Given the description of an element on the screen output the (x, y) to click on. 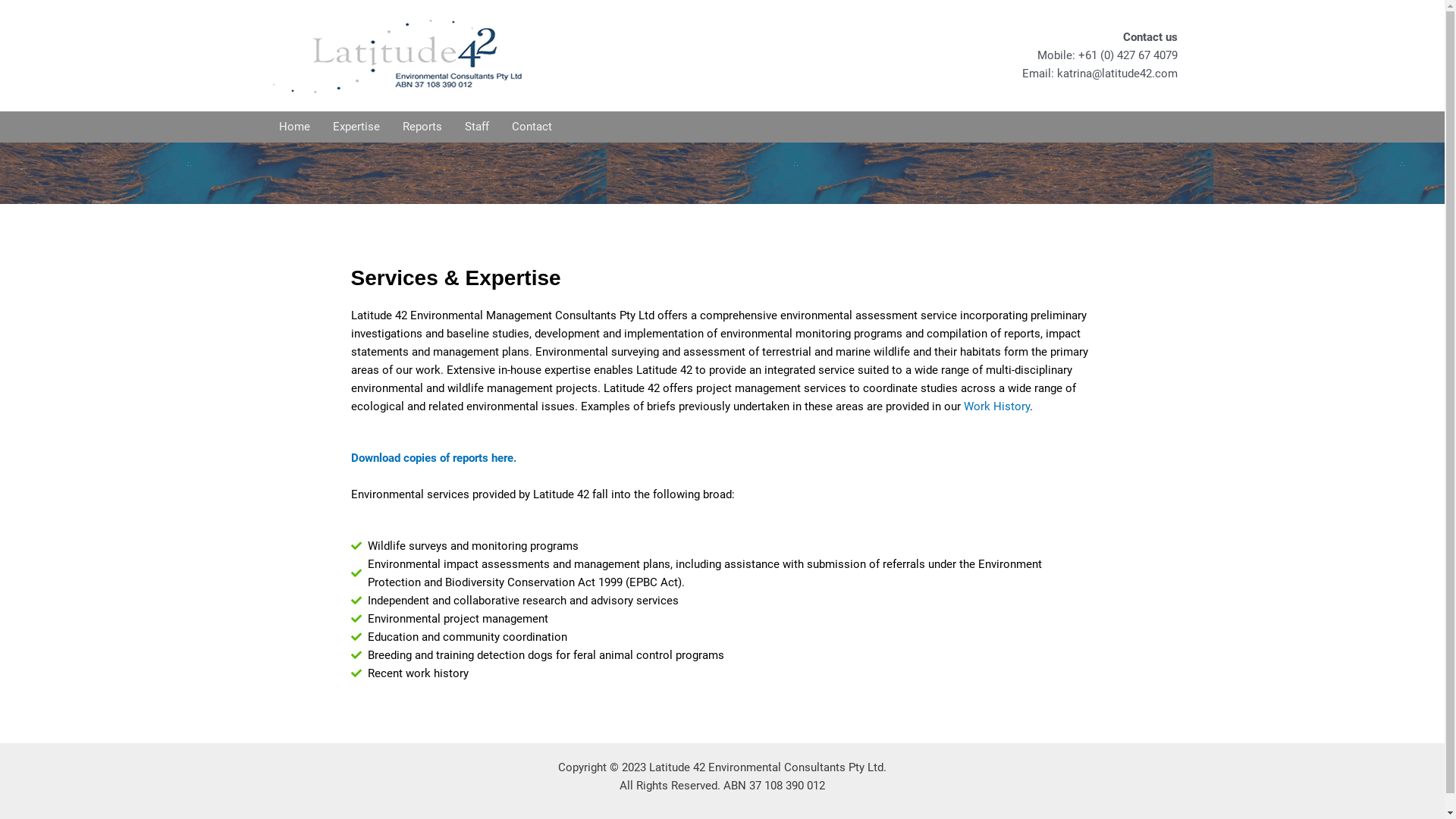
Home Element type: text (293, 126)
Environmental project management Element type: text (721, 618)
Education and community coordination Element type: text (721, 636)
Work History Element type: text (996, 406)
Independent and collaborative research and advisory services Element type: text (721, 600)
Download copies of reports here. Element type: text (432, 457)
Expertise Element type: text (356, 126)
Recent work history Element type: text (721, 673)
Staff Element type: text (476, 126)
Reports Element type: text (422, 126)
Wildlife surveys and monitoring programs Element type: text (721, 545)
Contact Element type: text (531, 126)
